Given the description of an element on the screen output the (x, y) to click on. 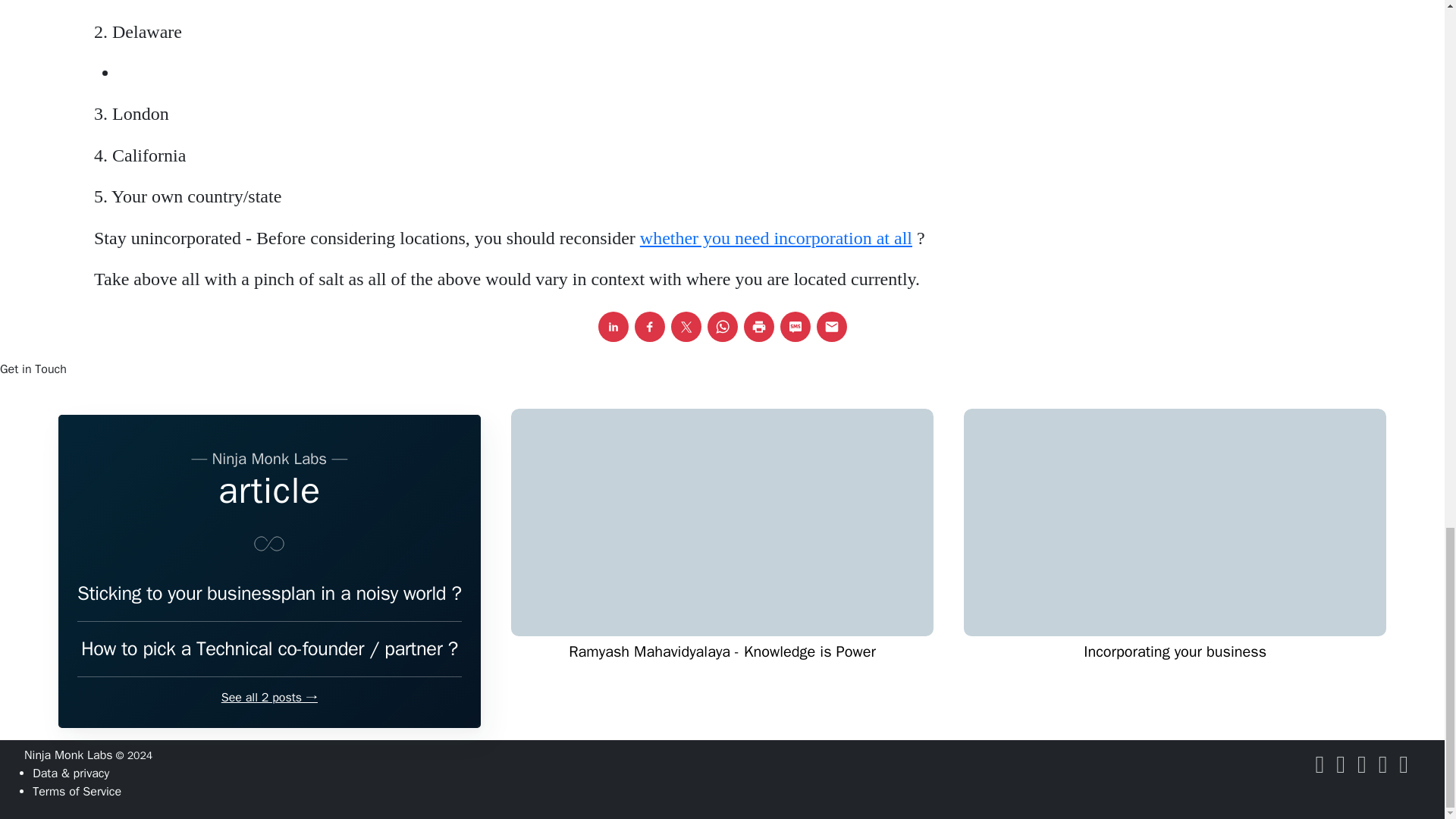
Sticking to your businessplan in a noisy world ? (269, 597)
Terms of Service (76, 791)
whether you need incorporation at all (776, 238)
Ramyash Mahavidyalaya - Knowledge is Power (722, 675)
article (269, 490)
Ninja Monk Labs (68, 754)
Incorporating your business (1174, 675)
